Given the description of an element on the screen output the (x, y) to click on. 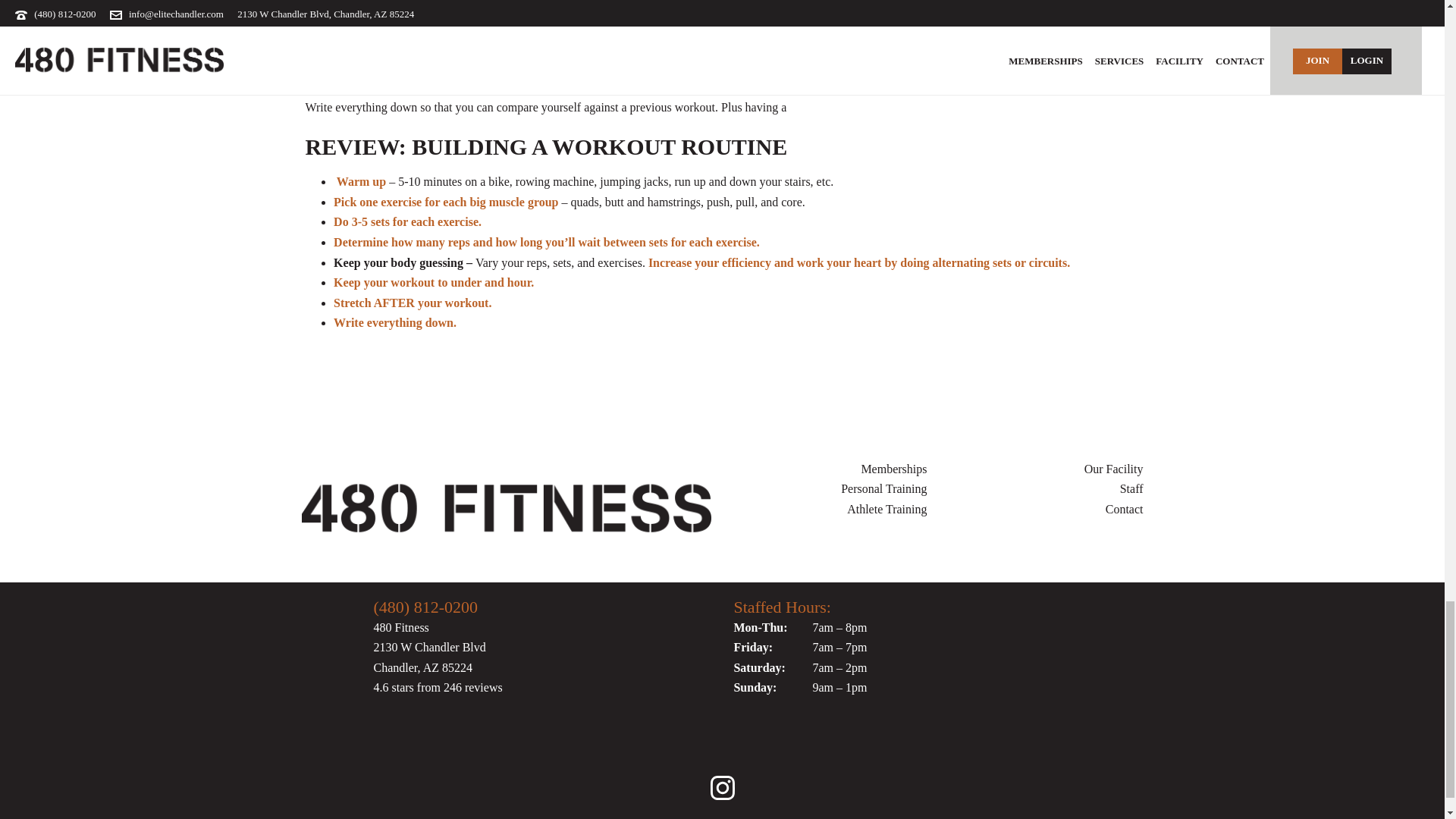
480-fitness-chandler-gym-logo (506, 509)
